Given the description of an element on the screen output the (x, y) to click on. 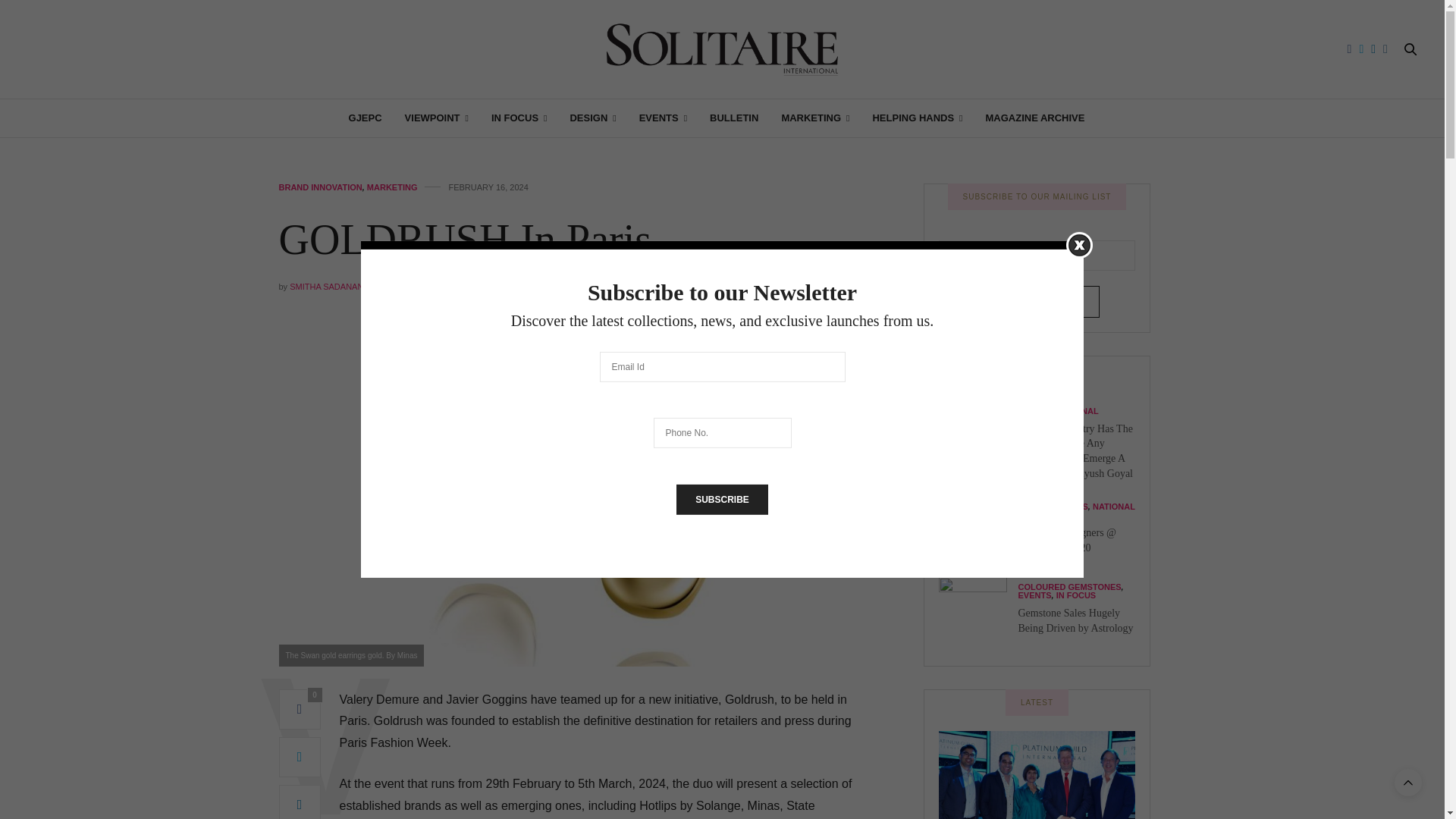
Subscribe (722, 499)
